Given the description of an element on the screen output the (x, y) to click on. 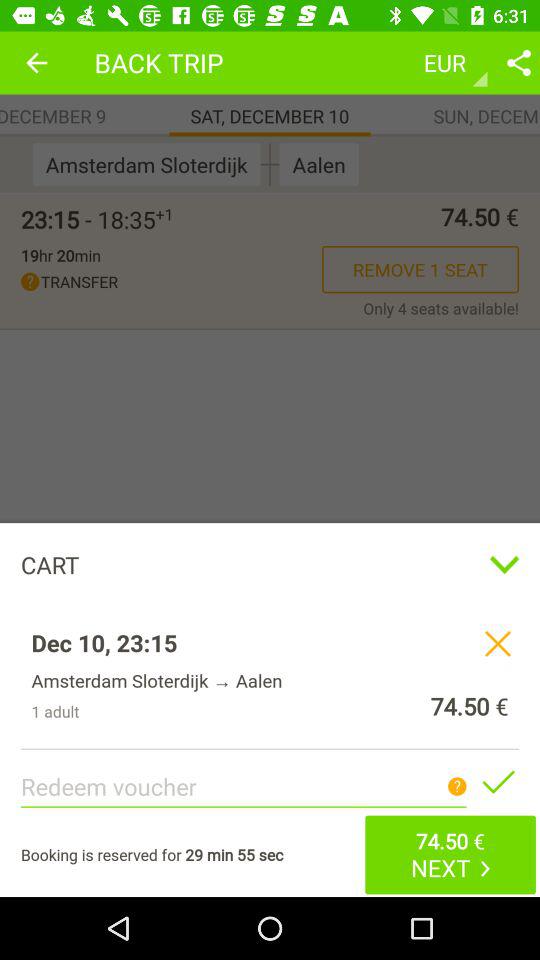
remove order (498, 643)
